Given the description of an element on the screen output the (x, y) to click on. 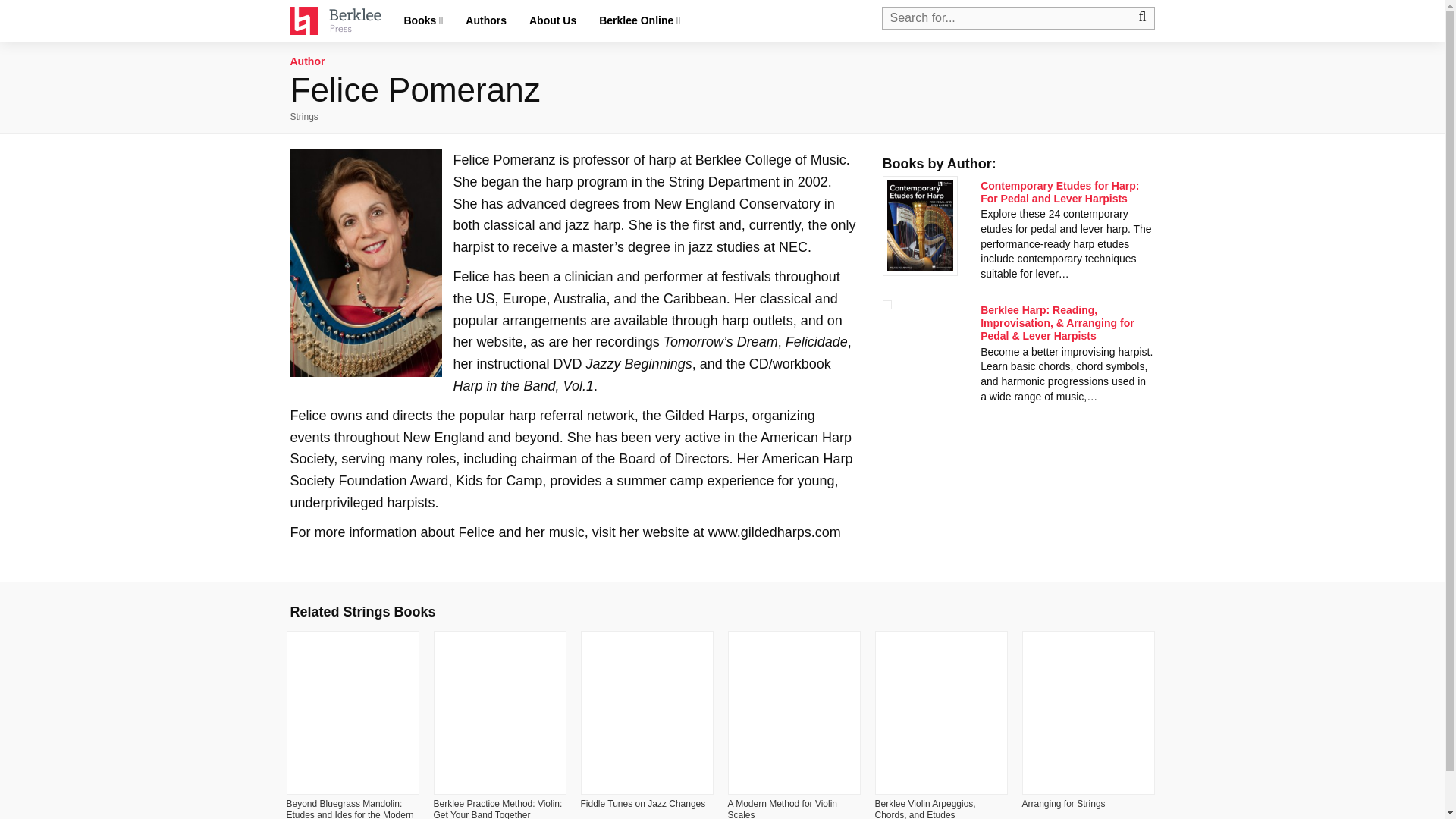
Berklee Online (639, 20)
A Modern Method for Violin Scales (783, 808)
Fiddle Tunes on Jazz Changes (643, 803)
Contemporary Etudes for Harp (1058, 191)
Authors (486, 20)
Berklee Violin Arpeggios, Chords, and Etudes (925, 808)
Arranging for Strings (1063, 803)
Contemporary Etudes for Harp: For Pedal and Lever Harpists (1058, 191)
About Us (553, 20)
Books (423, 20)
Beyond Bluegrass Mandolin (349, 808)
Berklee Practice Method: Violin (497, 808)
Strings (303, 116)
Berklee Harp (1056, 322)
Author (306, 61)
